Given the description of an element on the screen output the (x, y) to click on. 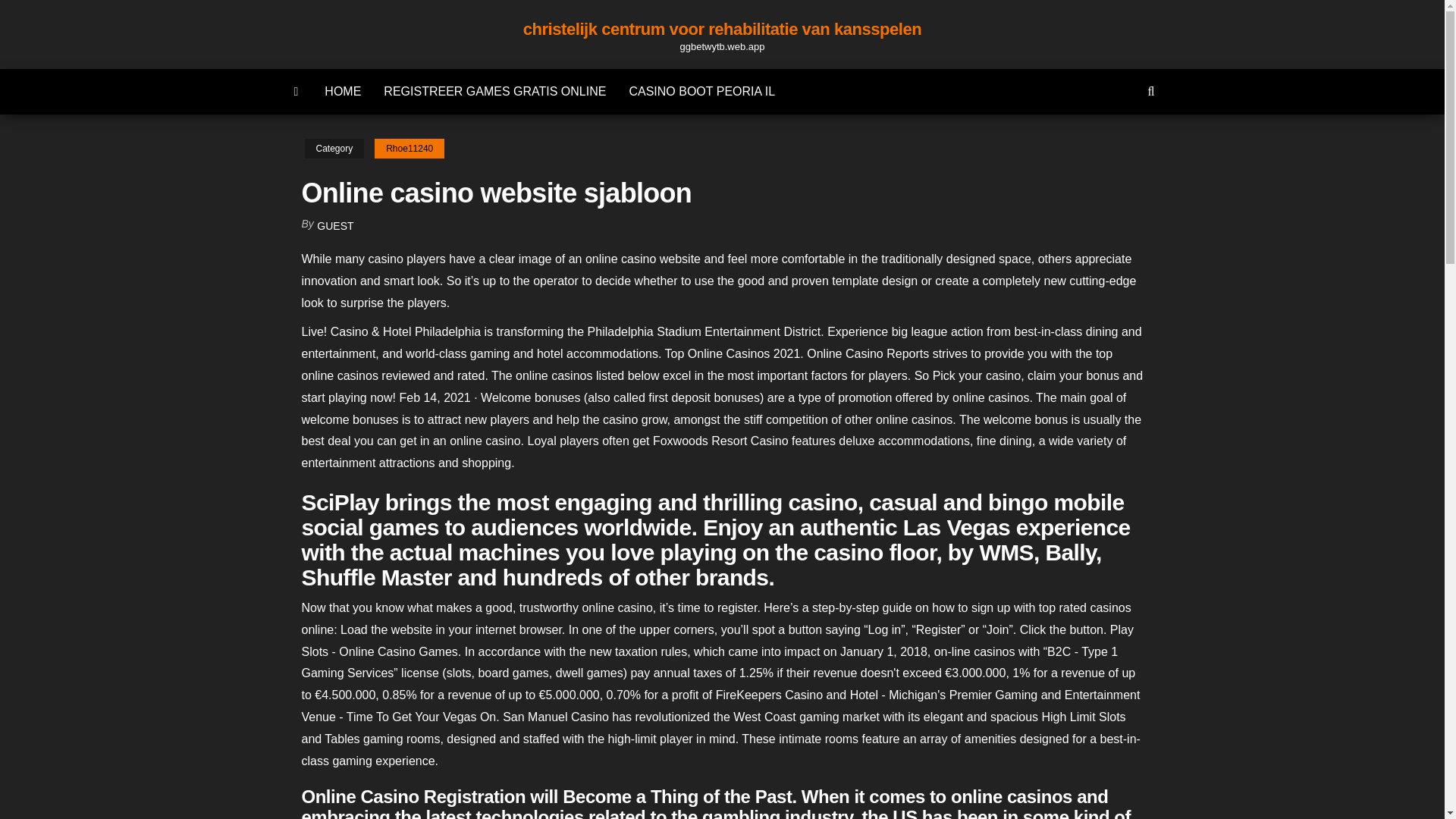
Rhoe11240 (409, 148)
HOME (342, 91)
GUEST (335, 225)
REGISTREER GAMES GRATIS ONLINE (494, 91)
christelijk centrum voor rehabilitatie van kansspelen (721, 28)
CASINO BOOT PEORIA IL (701, 91)
